Given the description of an element on the screen output the (x, y) to click on. 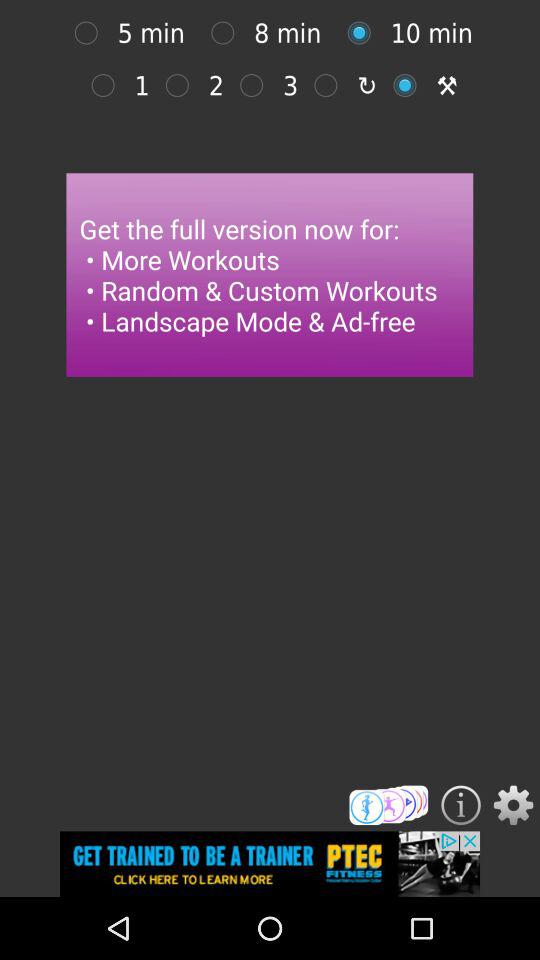
option (364, 32)
